Given the description of an element on the screen output the (x, y) to click on. 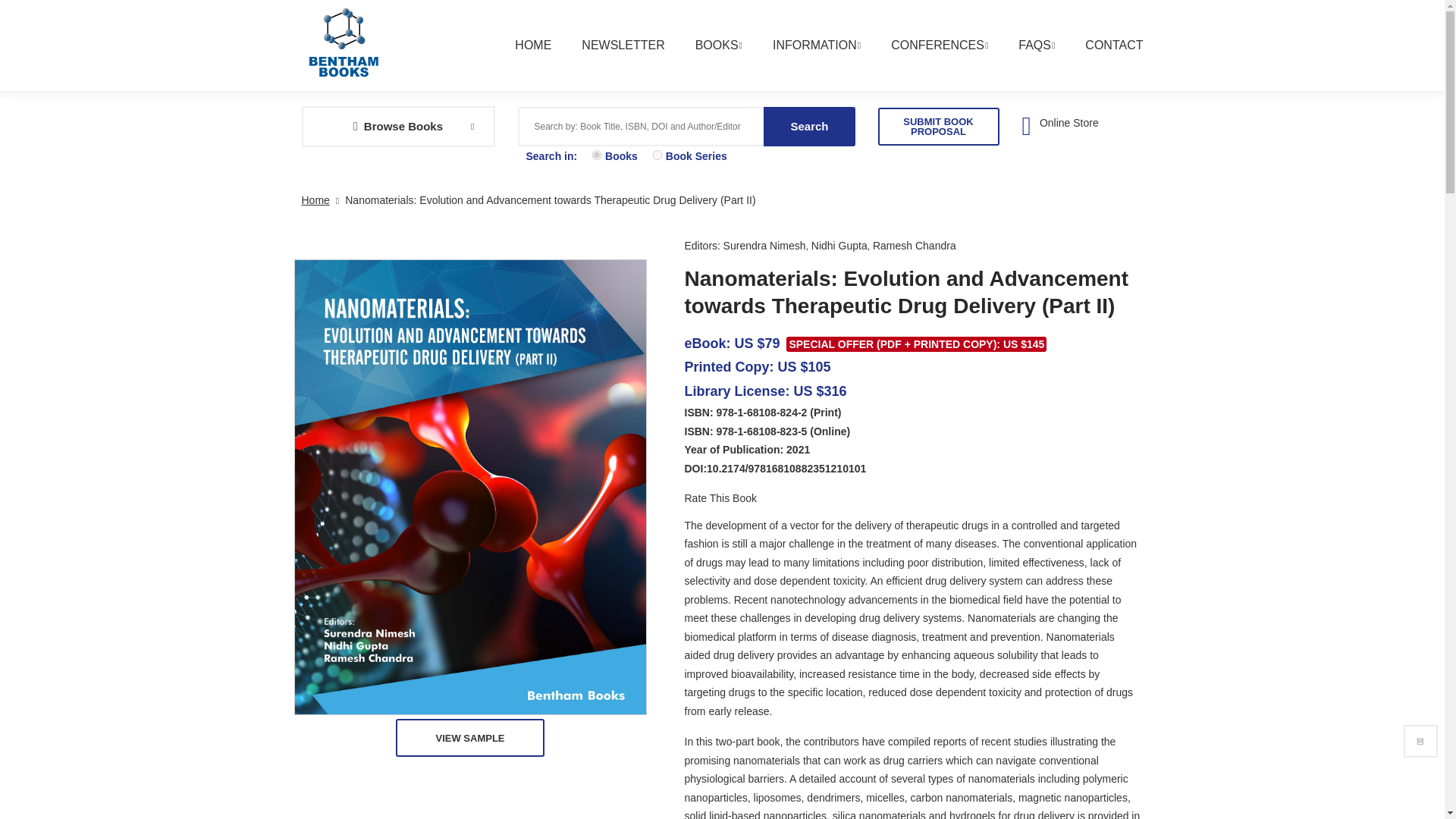
NEWSLETTER (607, 52)
series (657, 154)
CONFERENCES (924, 52)
book (596, 154)
INFORMATION (801, 52)
